Given the description of an element on the screen output the (x, y) to click on. 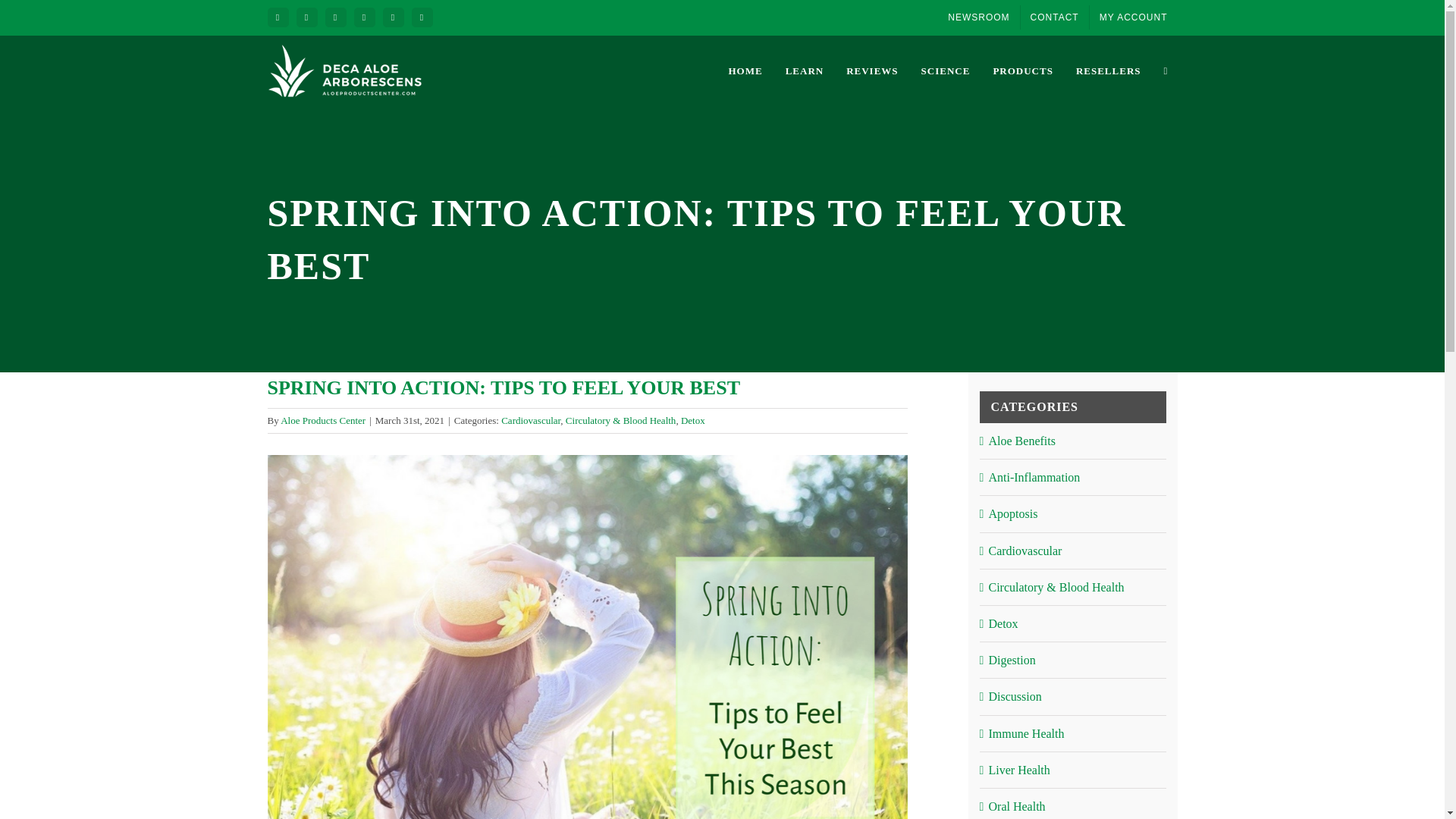
MY ACCOUNT (1133, 16)
NEWSROOM (978, 16)
Contact (1054, 16)
Newsroom (978, 16)
PINTEREST (335, 17)
Facebook (277, 17)
YouTube (421, 17)
X (363, 17)
Pinterest (335, 17)
Instagram (306, 17)
